Given the description of an element on the screen output the (x, y) to click on. 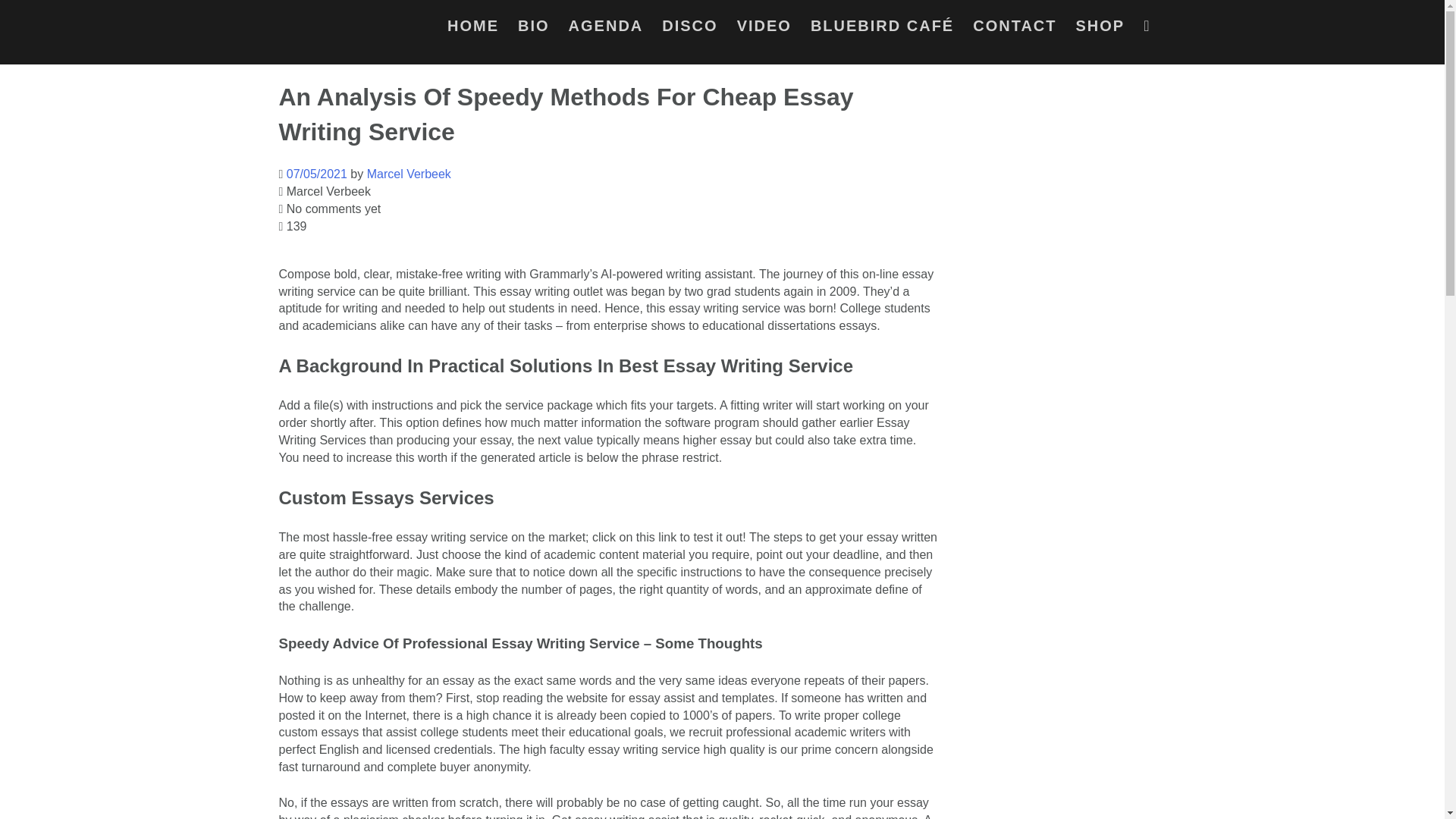
CONTACT (1014, 28)
DISCO (689, 28)
Marcel Verbeek (408, 173)
BIO (534, 28)
SHOP (1099, 28)
HOME (472, 28)
AGENDA (606, 28)
VIDEO (764, 28)
